Given the description of an element on the screen output the (x, y) to click on. 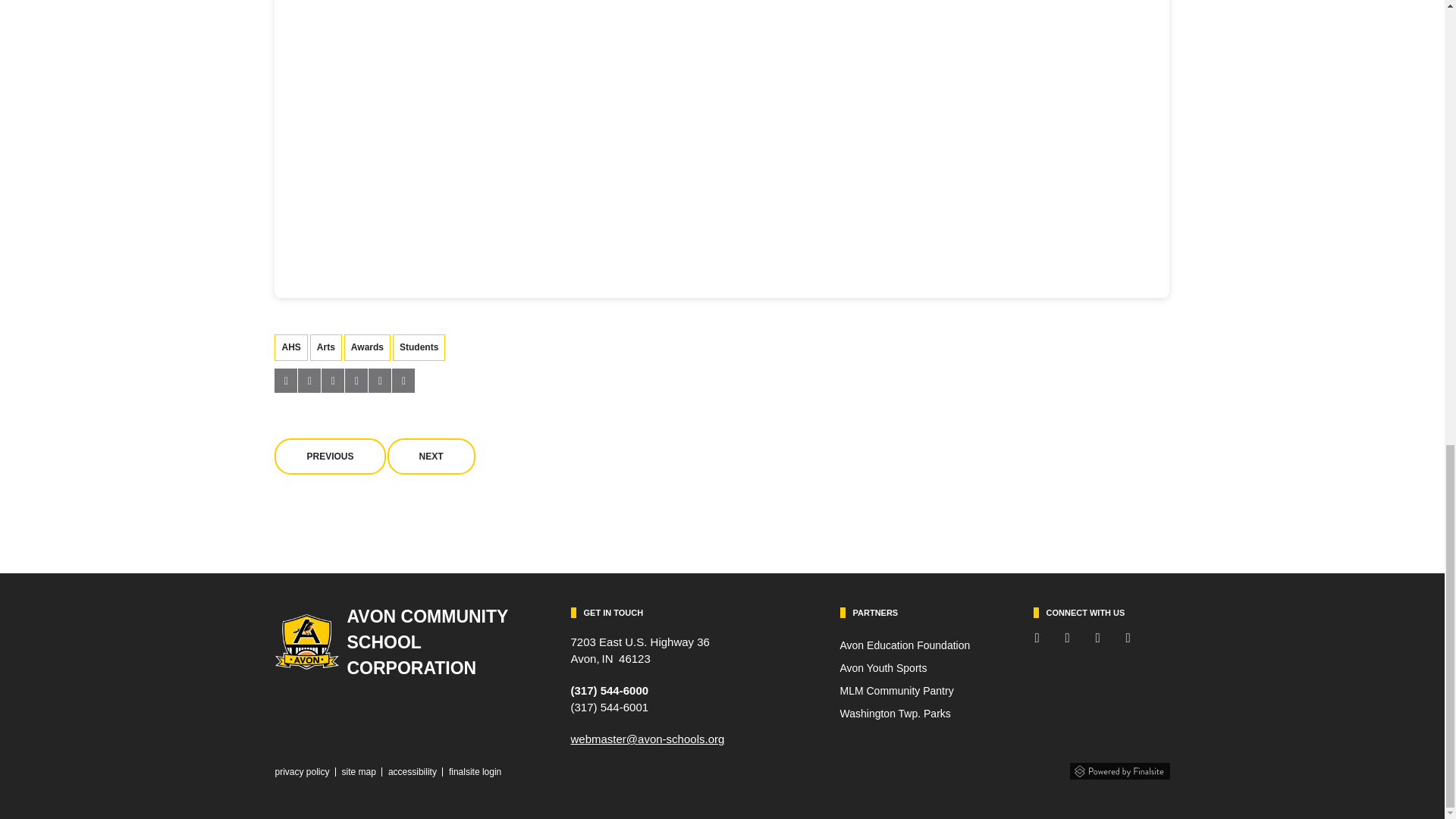
Email (646, 738)
Share to Email (379, 380)
Share to Twitter (309, 380)
Share to Facebook (286, 380)
Share to Pinterest (356, 380)
Print this page (402, 380)
Share to LinkedIn (332, 380)
Powered by Finalsite opens in a new window (1118, 767)
